Given the description of an element on the screen output the (x, y) to click on. 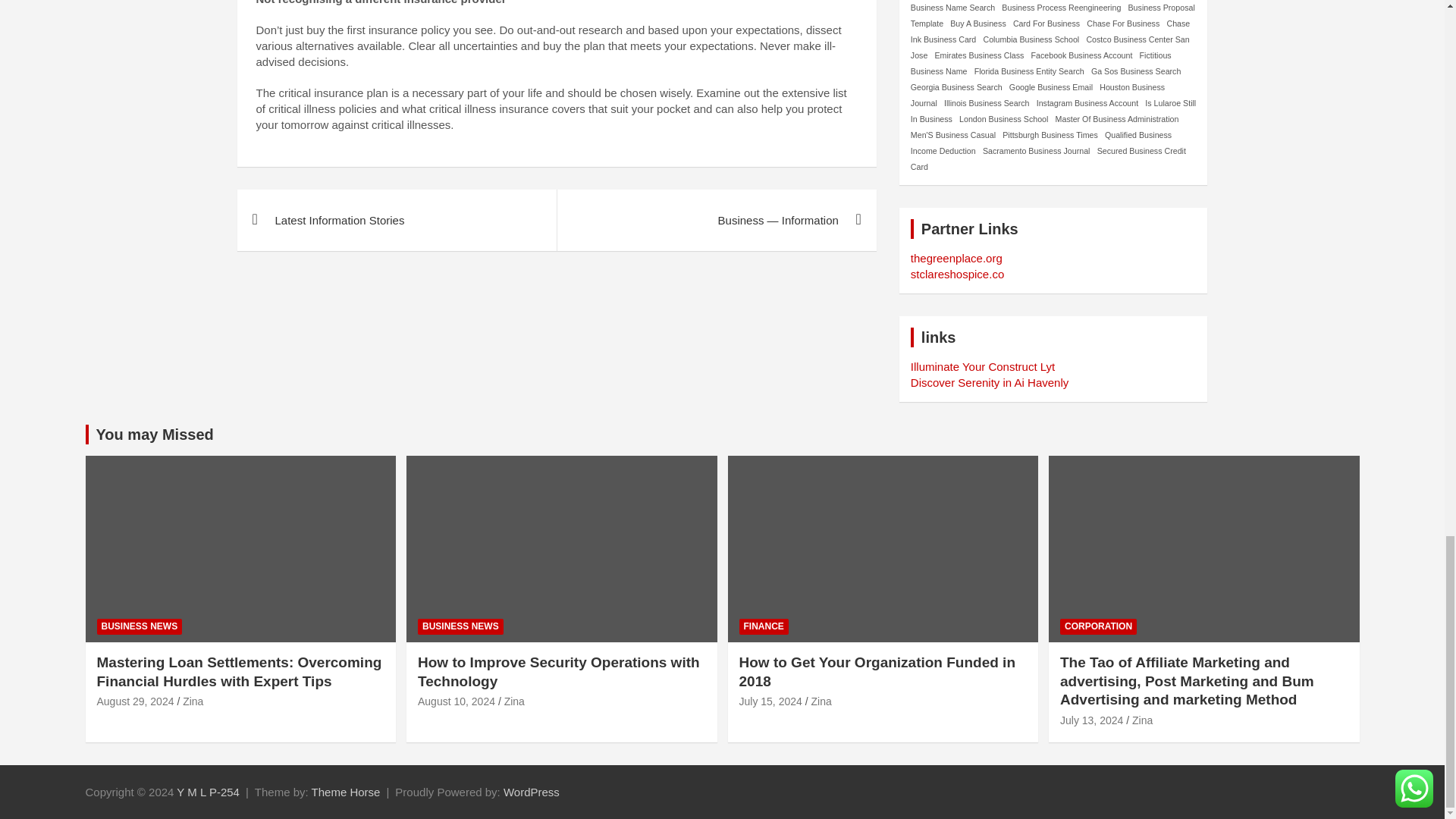
How to Get Your Organization Funded in 2018 (770, 701)
How to Improve Security Operations with Technology (456, 701)
Theme Horse (345, 791)
Y M L P-254 (208, 791)
Latest Information Stories (395, 219)
WordPress (531, 791)
